Given the description of an element on the screen output the (x, y) to click on. 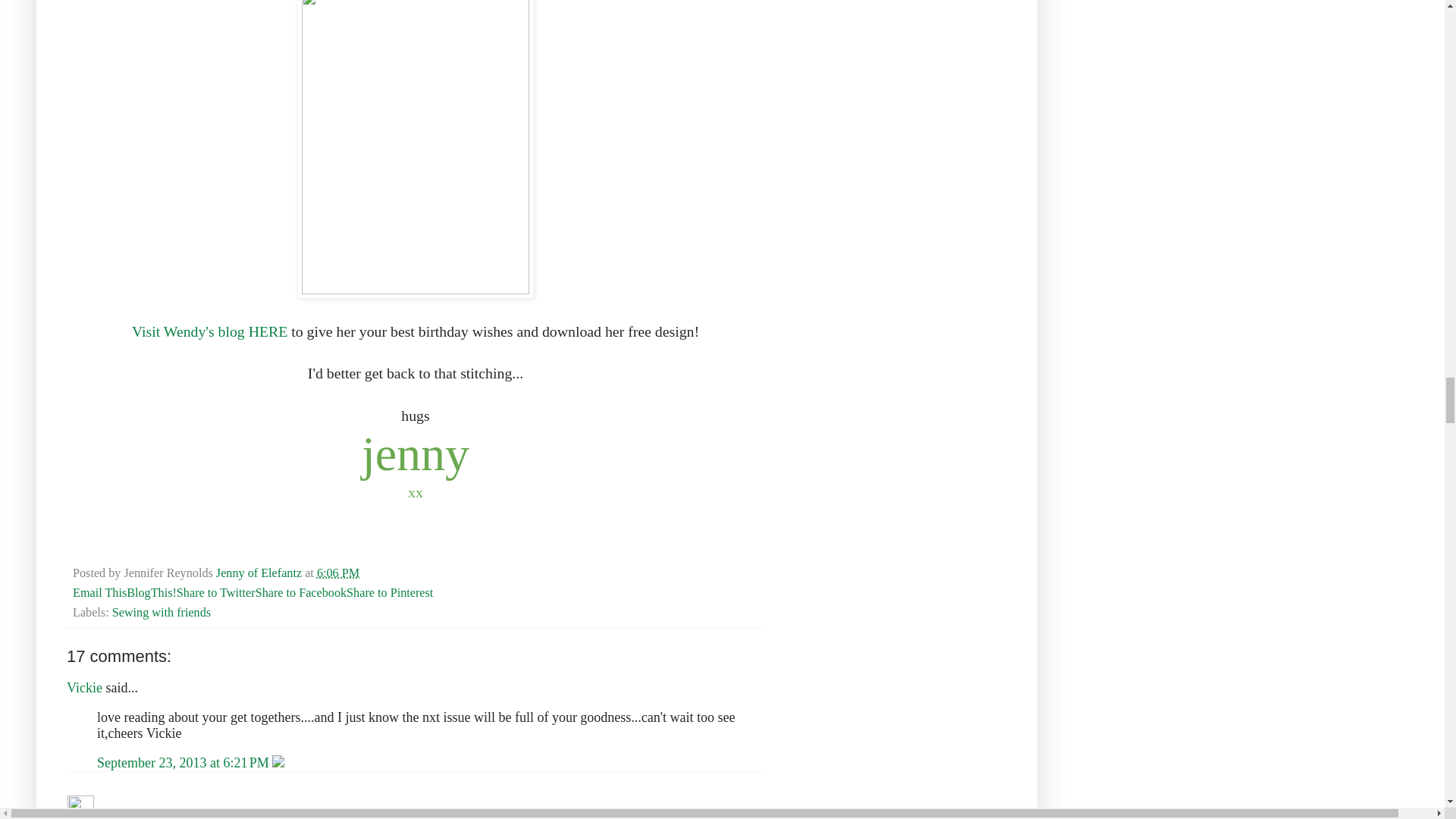
Share to Twitter (216, 592)
Anonymous (80, 806)
Email This (99, 592)
Jenny of Elefantz (259, 572)
Email This (99, 592)
permanent link (338, 572)
6:06 PM (338, 572)
Share to Pinterest (389, 592)
Share to Twitter (216, 592)
Share to Facebook (301, 592)
Share to Pinterest (389, 592)
Share to Facebook (301, 592)
BlogThis! (151, 592)
BlogThis! (151, 592)
author profile (259, 572)
